Given the description of an element on the screen output the (x, y) to click on. 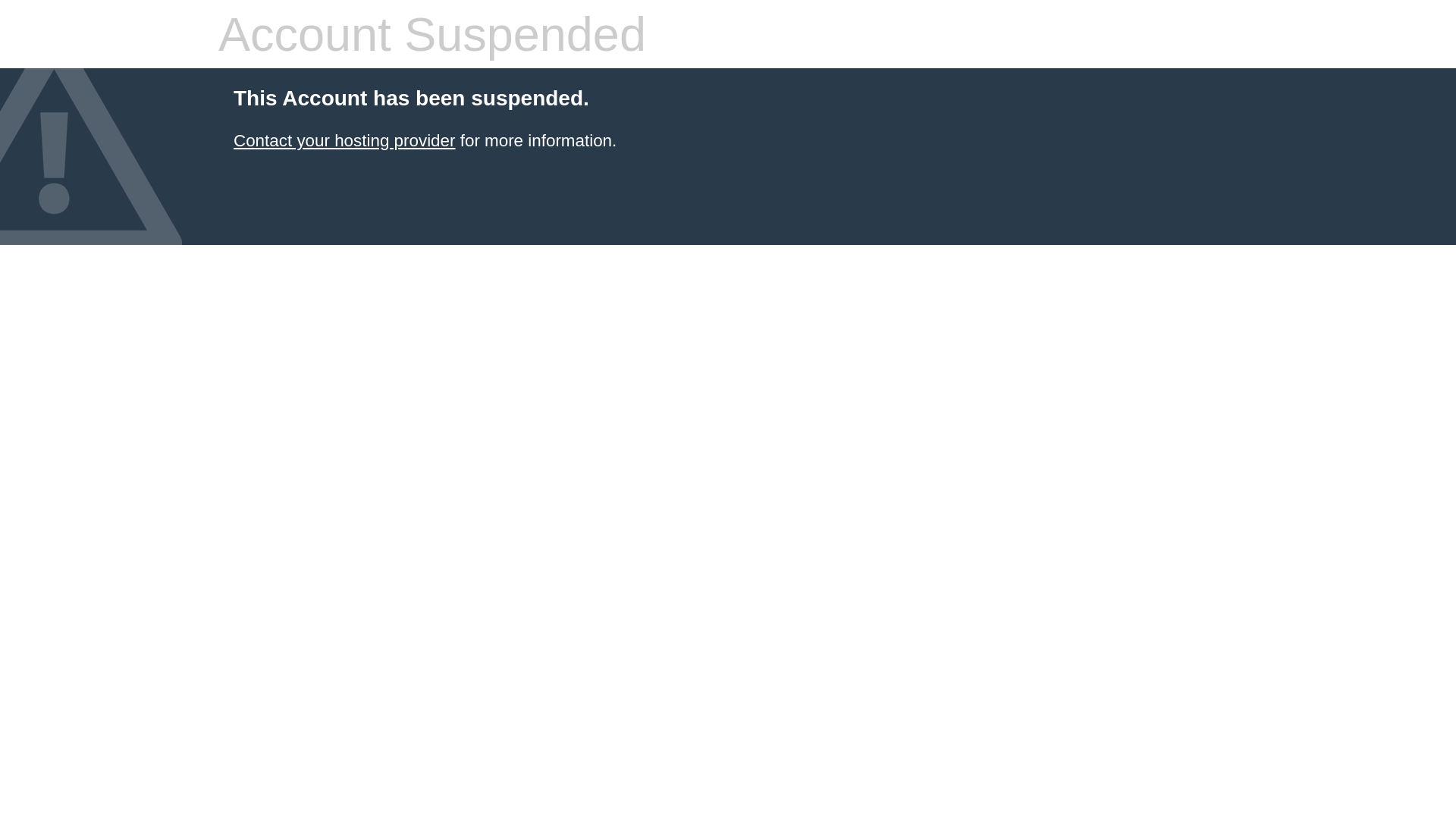
Contact your hosting provider Element type: text (344, 140)
